Given the description of an element on the screen output the (x, y) to click on. 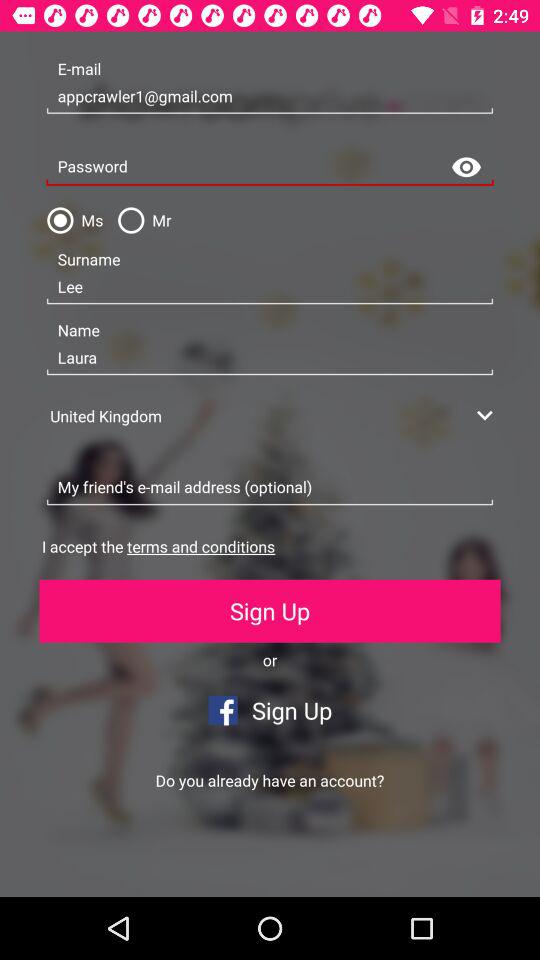
turn off item above the laura item (269, 287)
